Given the description of an element on the screen output the (x, y) to click on. 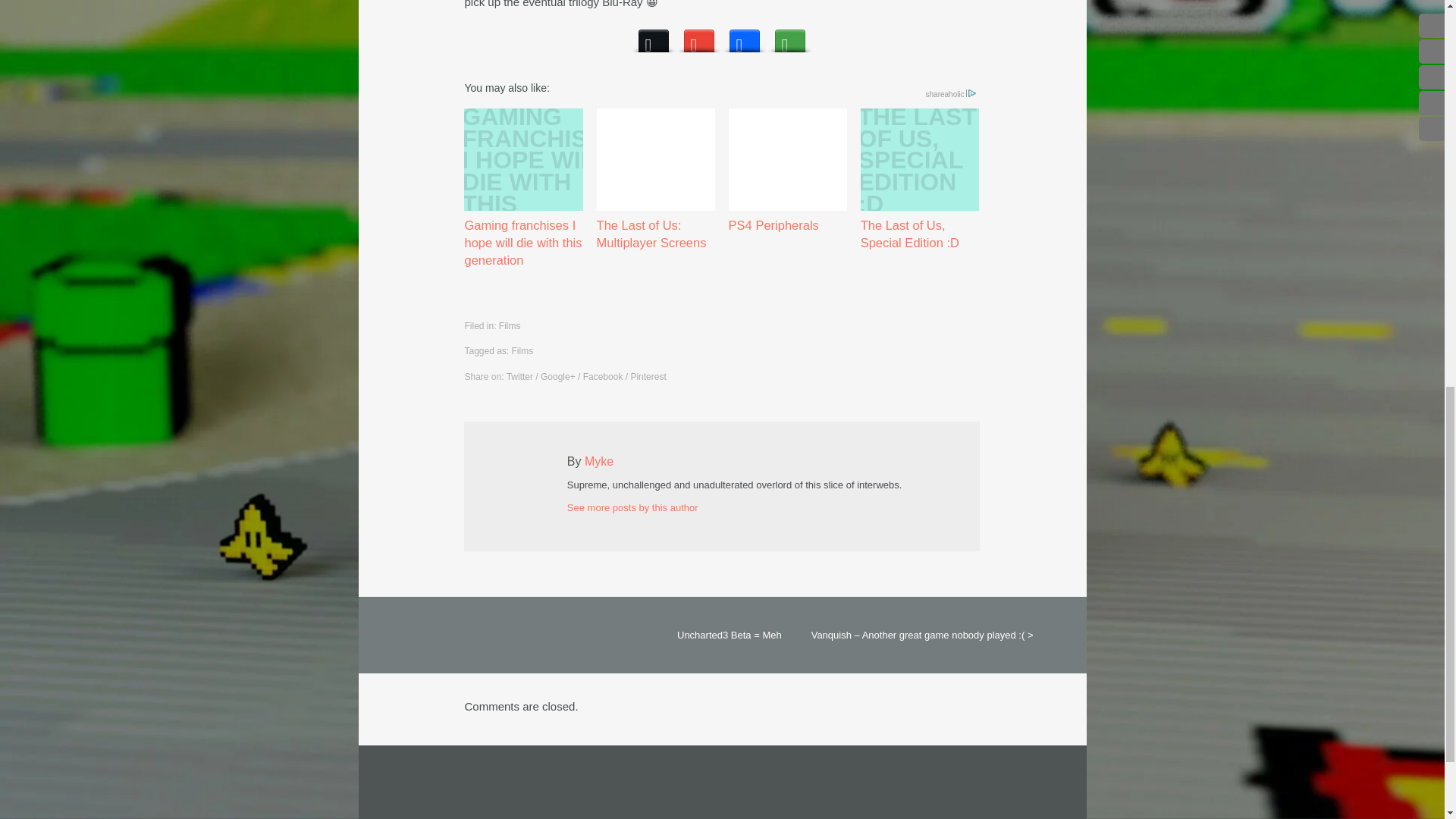
shareaholic (952, 94)
PS4 Peripherals (788, 171)
See more posts by this author (632, 507)
Google Gmail (699, 37)
PS4 Peripherals (788, 171)
Films (510, 326)
Films (523, 350)
More Options (789, 37)
Facebook (744, 37)
Myke (598, 461)
Website Tools by Shareaholic (952, 94)
Myke (598, 461)
